Given the description of an element on the screen output the (x, y) to click on. 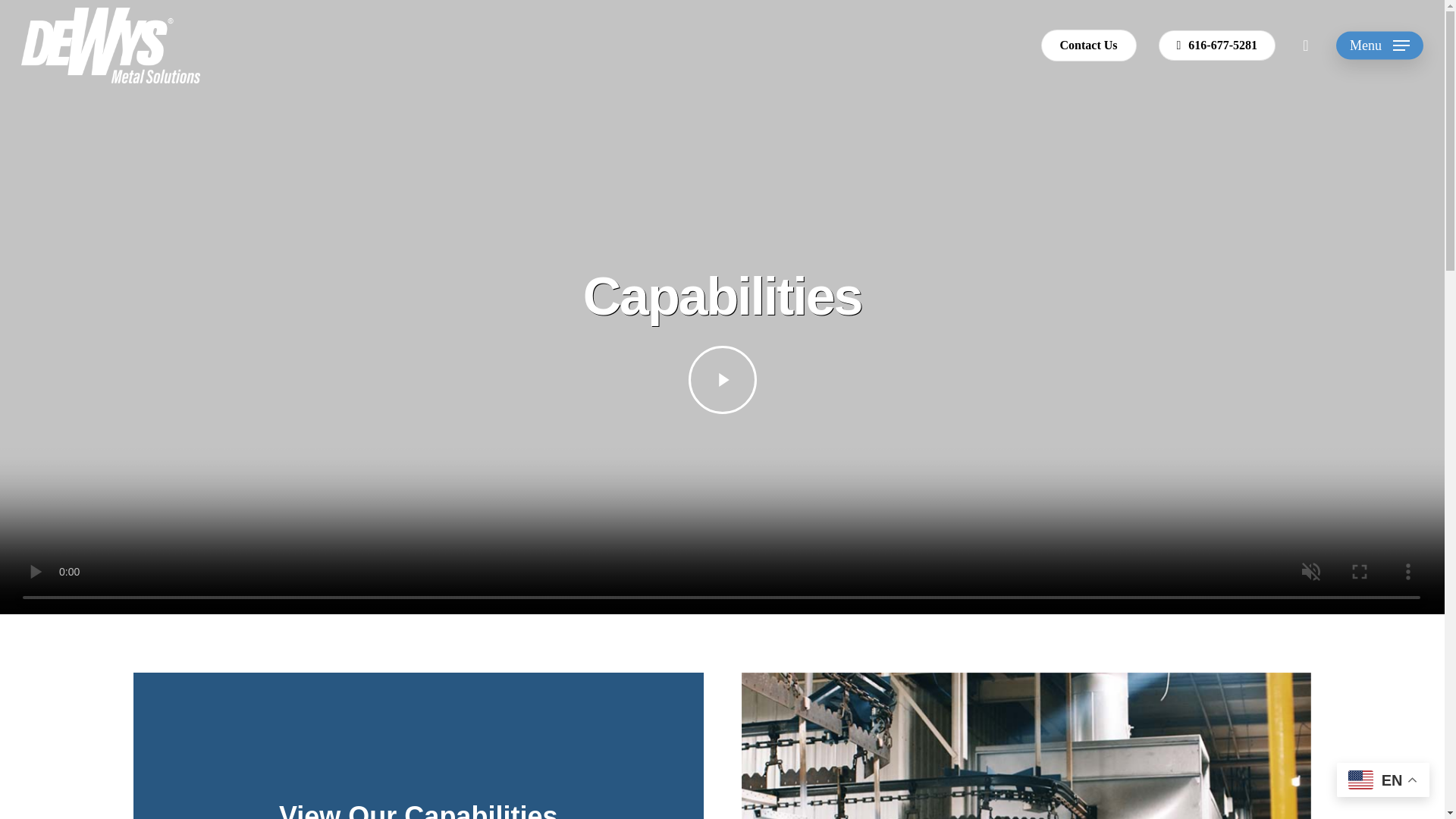
Contact Us (1088, 45)
Menu (1379, 45)
Play Video (722, 379)
search (1305, 45)
616-677-5281 (1217, 45)
